Given the description of an element on the screen output the (x, y) to click on. 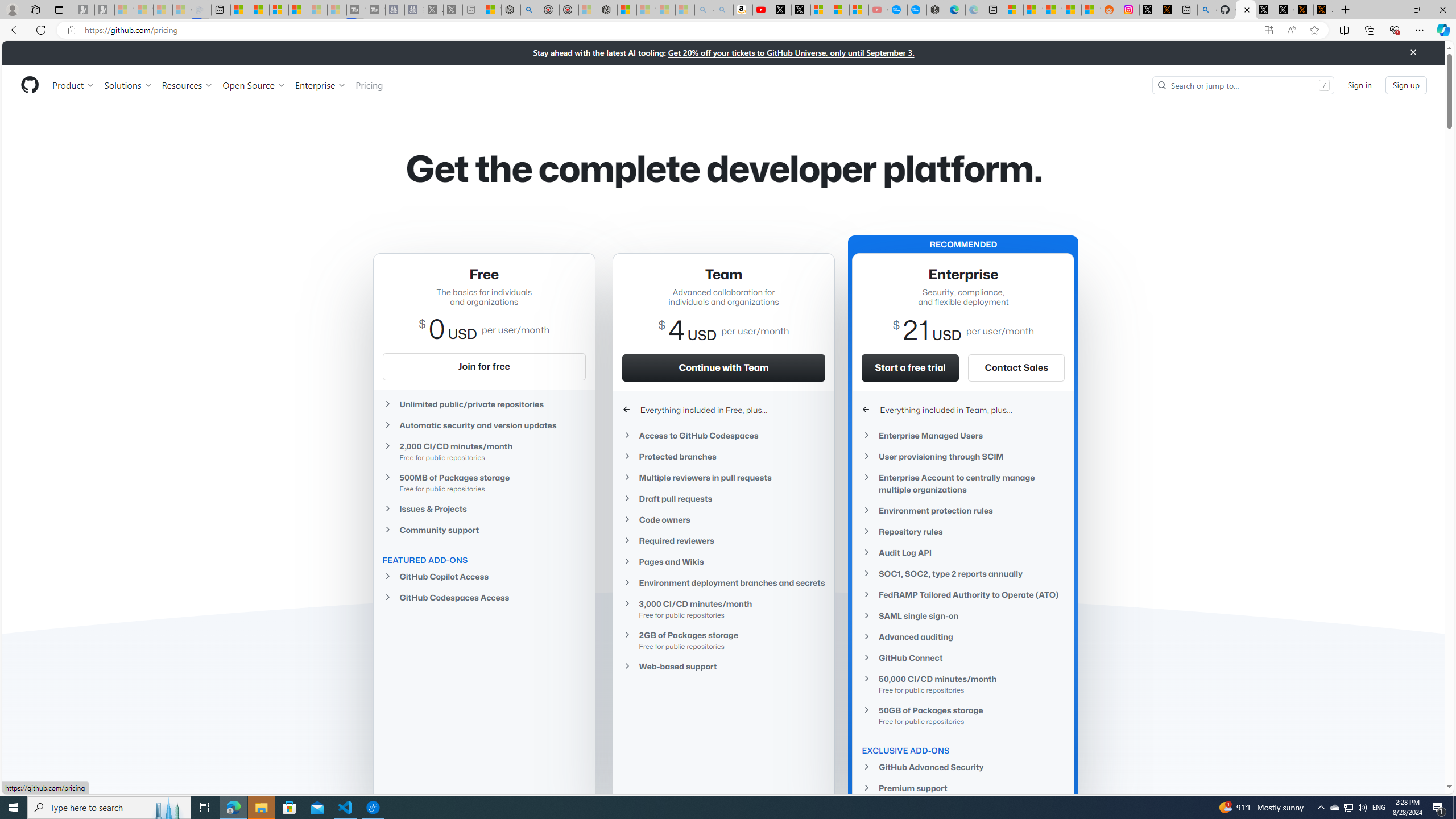
Amazon Echo Dot PNG - Search Images - Sleeping (723, 9)
Continue with Team (723, 367)
Microsoft account | Microsoft Account Privacy Settings (1012, 9)
2,000 CI/CD minutes/month Free for public repositories (483, 451)
The most popular Google 'how to' searches (916, 9)
SOC1, SOC2, type 2 reports annually (963, 573)
Required reviewers (723, 540)
SOC1, SOC2, type 2 reports annually (963, 573)
Overview (279, 9)
Start a free trial (910, 367)
50GB of Packages storageFree for public repositories (963, 714)
